Given the description of an element on the screen output the (x, y) to click on. 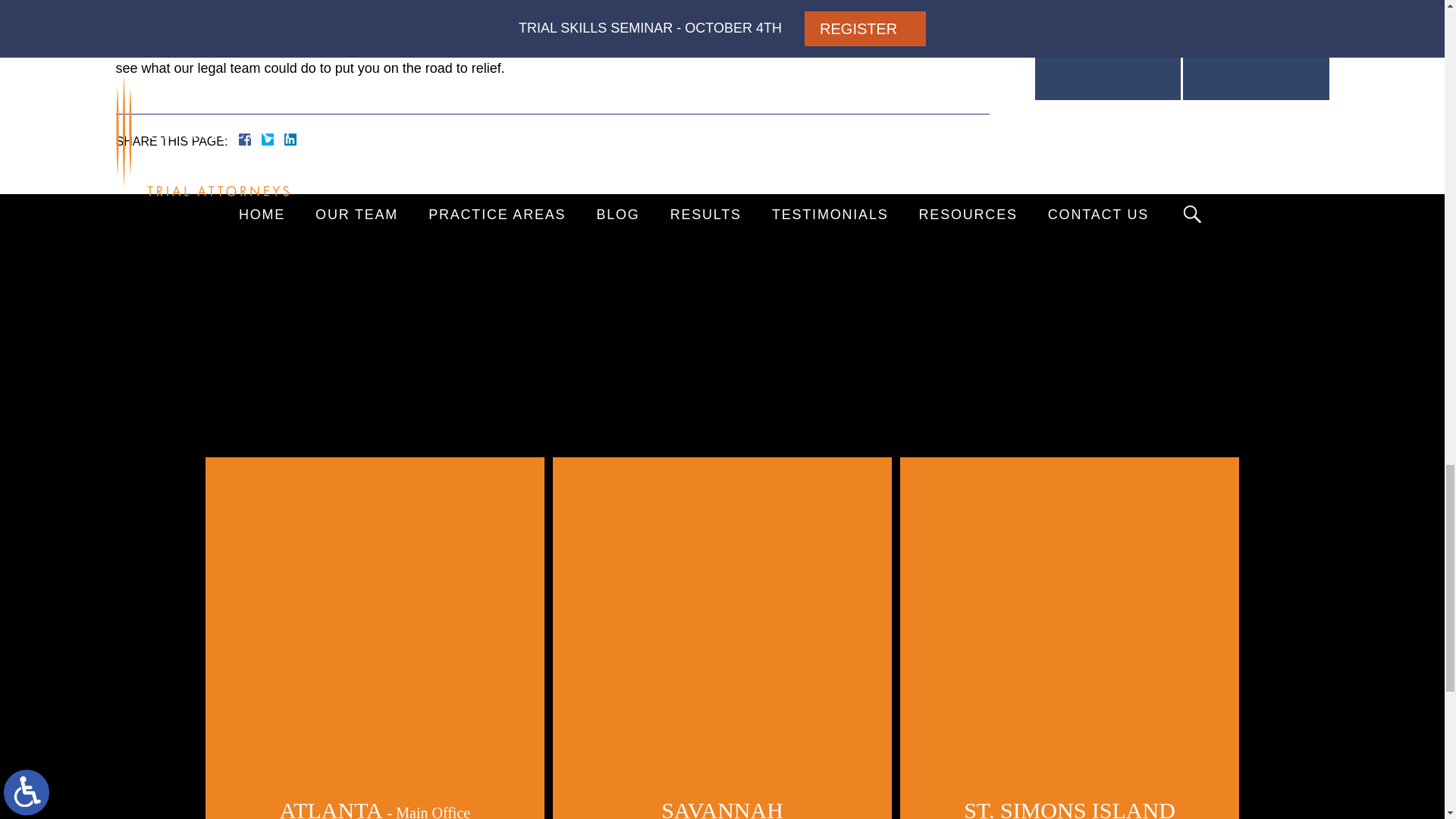
LinkedIn (284, 139)
Twitter (273, 139)
Facebook (262, 139)
